Given the description of an element on the screen output the (x, y) to click on. 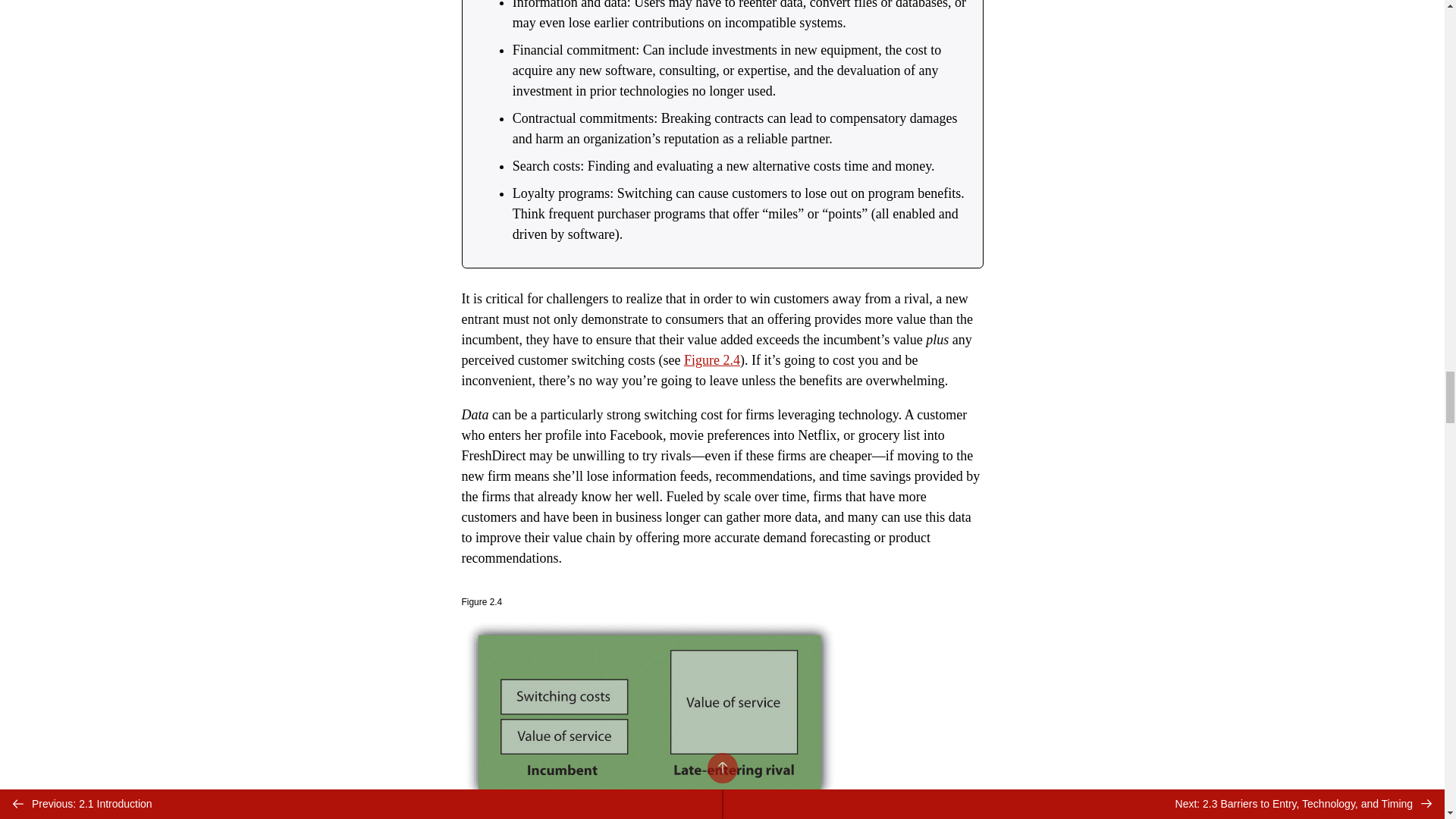
Figure 2.4 (711, 359)
